Given the description of an element on the screen output the (x, y) to click on. 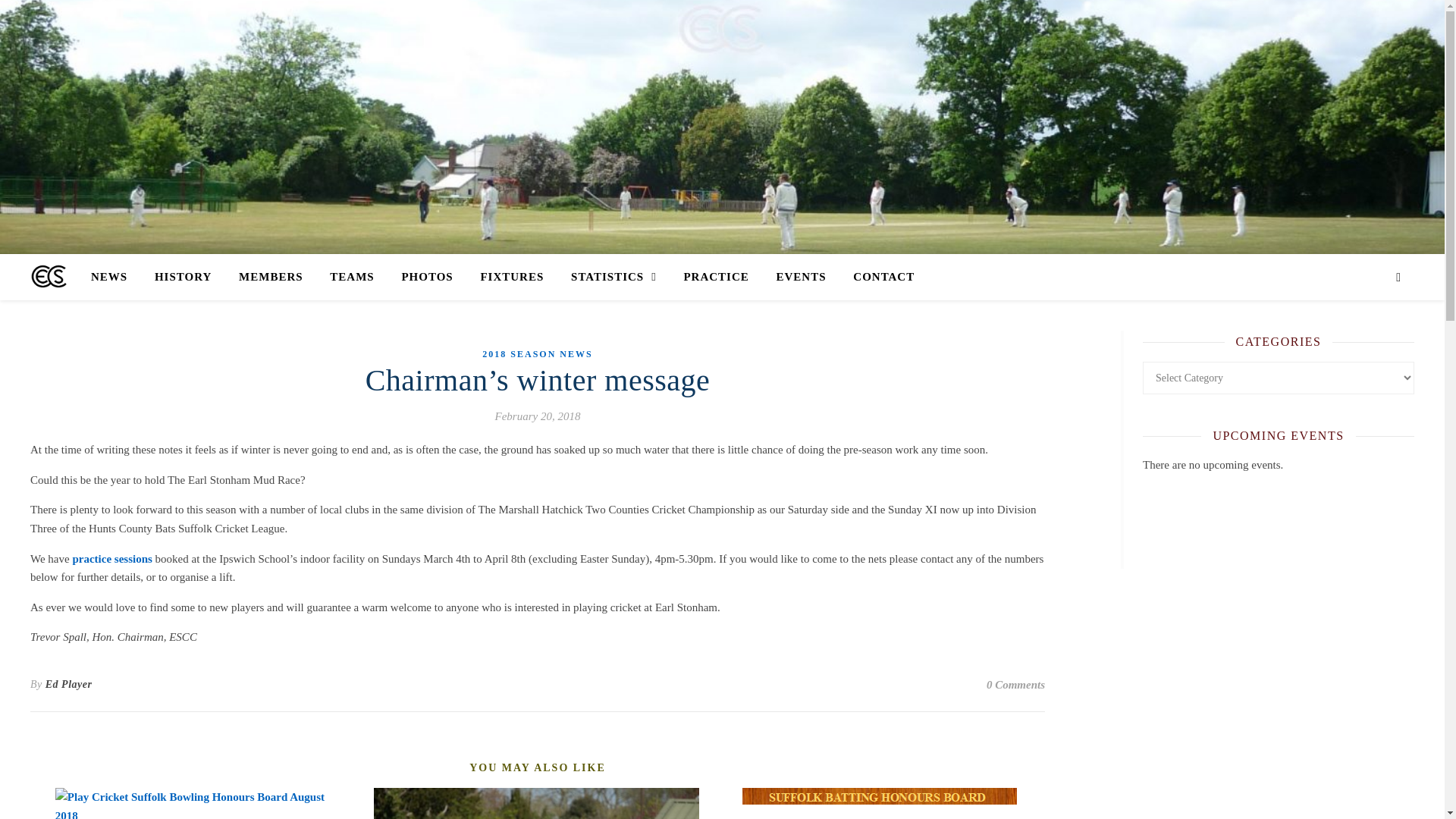
PHOTOS (426, 276)
STATISTICS (613, 276)
NEWS (114, 276)
PRACTICE (715, 276)
FIXTURES (511, 276)
Earl Stonham Cricket Club (49, 276)
TEAMS (351, 276)
HISTORY (183, 276)
EVENTS (801, 276)
CONTACT (877, 276)
MEMBERS (271, 276)
Posts by Ed Player (69, 684)
